Given the description of an element on the screen output the (x, y) to click on. 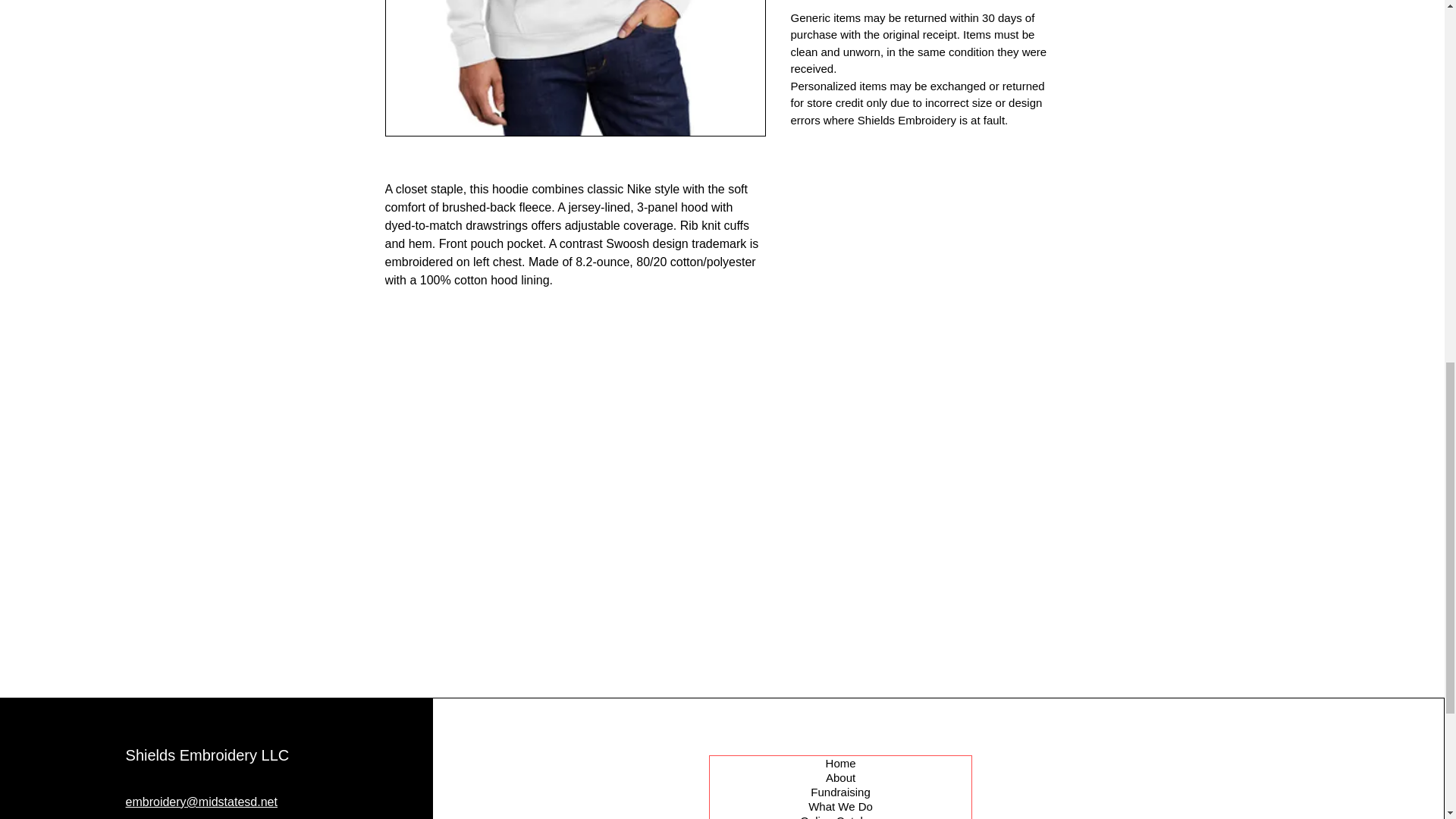
Shields Embroidery LLC (207, 754)
About (840, 777)
Home (840, 762)
Fundraising (840, 791)
What We Do (840, 806)
Online Catalogs (840, 816)
